Given the description of an element on the screen output the (x, y) to click on. 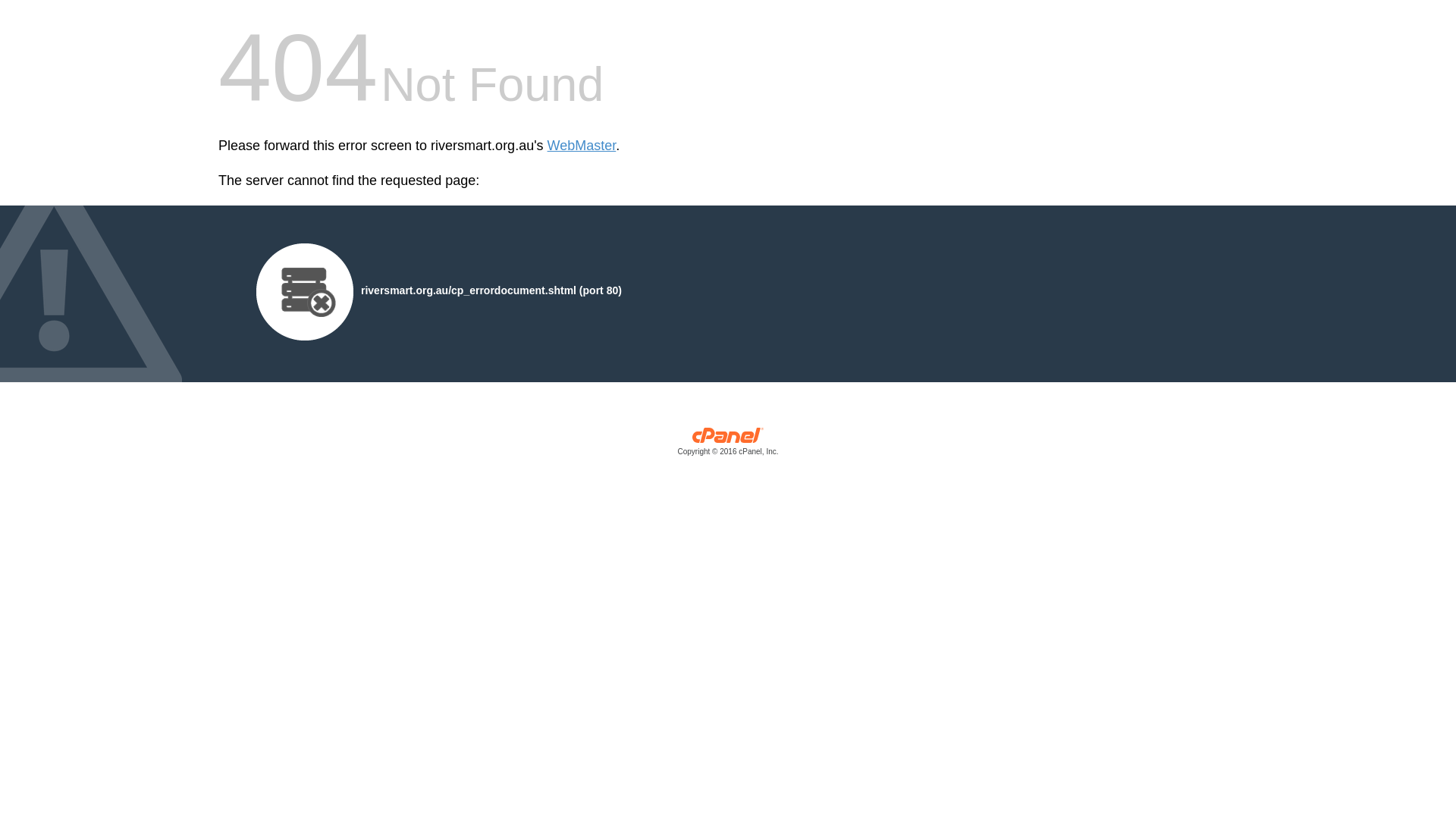
WebMaster Element type: text (581, 145)
